Given the description of an element on the screen output the (x, y) to click on. 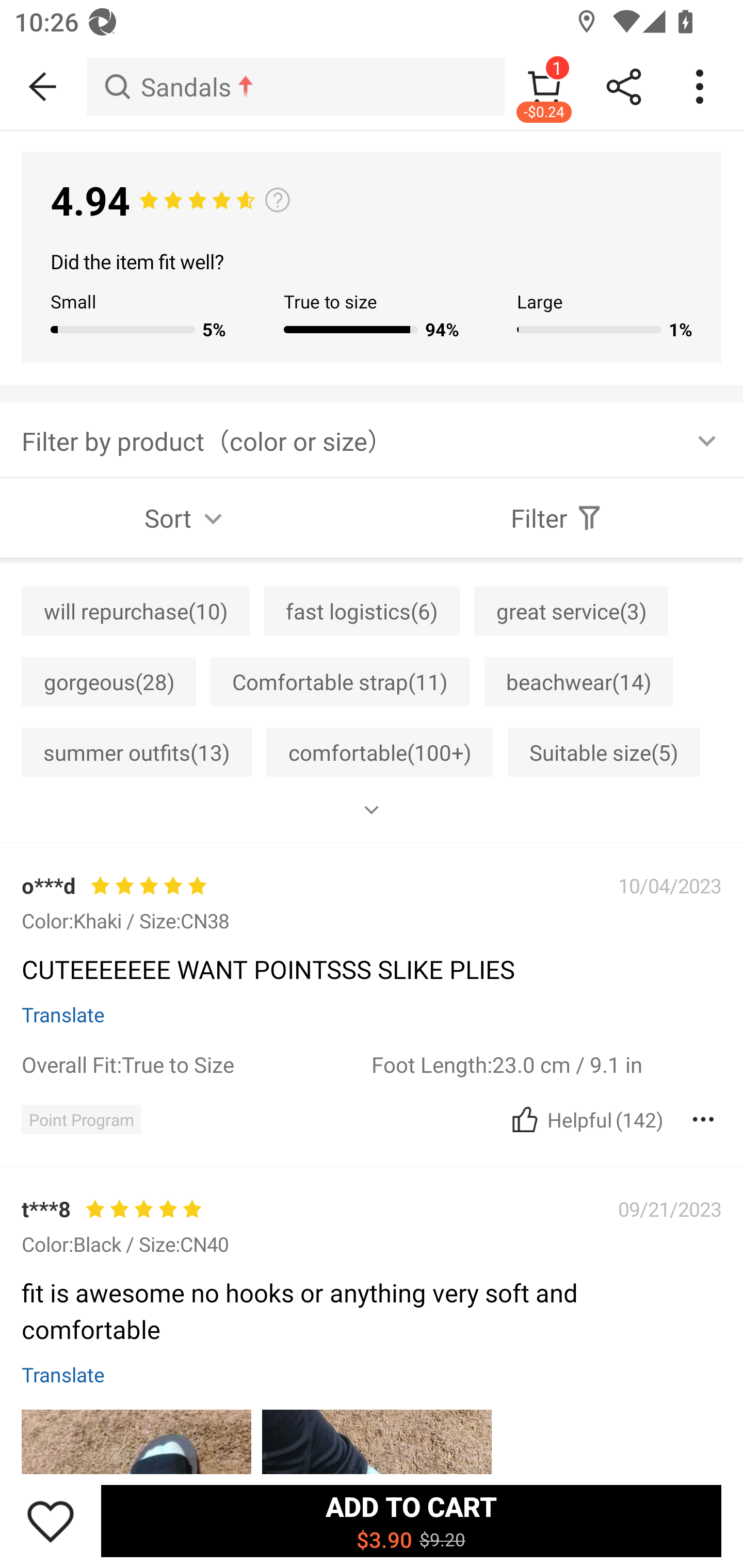
BACK (43, 86)
1 -$0.24 (543, 87)
Sandals (295, 87)
Filter by product（color or size） (371, 439)
Sort (185, 518)
Filter (557, 518)
will repurchase(10) (135, 610)
fast logistics(6) (361, 610)
great service(3) (570, 610)
gorgeous(28) (108, 680)
Comfortable strap(11) (340, 680)
beachwear(14) (578, 680)
summer outfits(13) (136, 751)
comfortable(100‎+) (379, 751)
Suitable size(5) (603, 751)
Translate (62, 1014)
Overall Fit:True to Size (196, 1063)
Foot Length:23.0 cm / 9.1 in (546, 1063)
Cancel Helpful Was this article helpful? (142) (585, 1119)
Point Program (81, 1119)
Translate (62, 1374)
ADD TO CART $3.90 $9.20 (411, 1520)
Save (50, 1520)
